Given the description of an element on the screen output the (x, y) to click on. 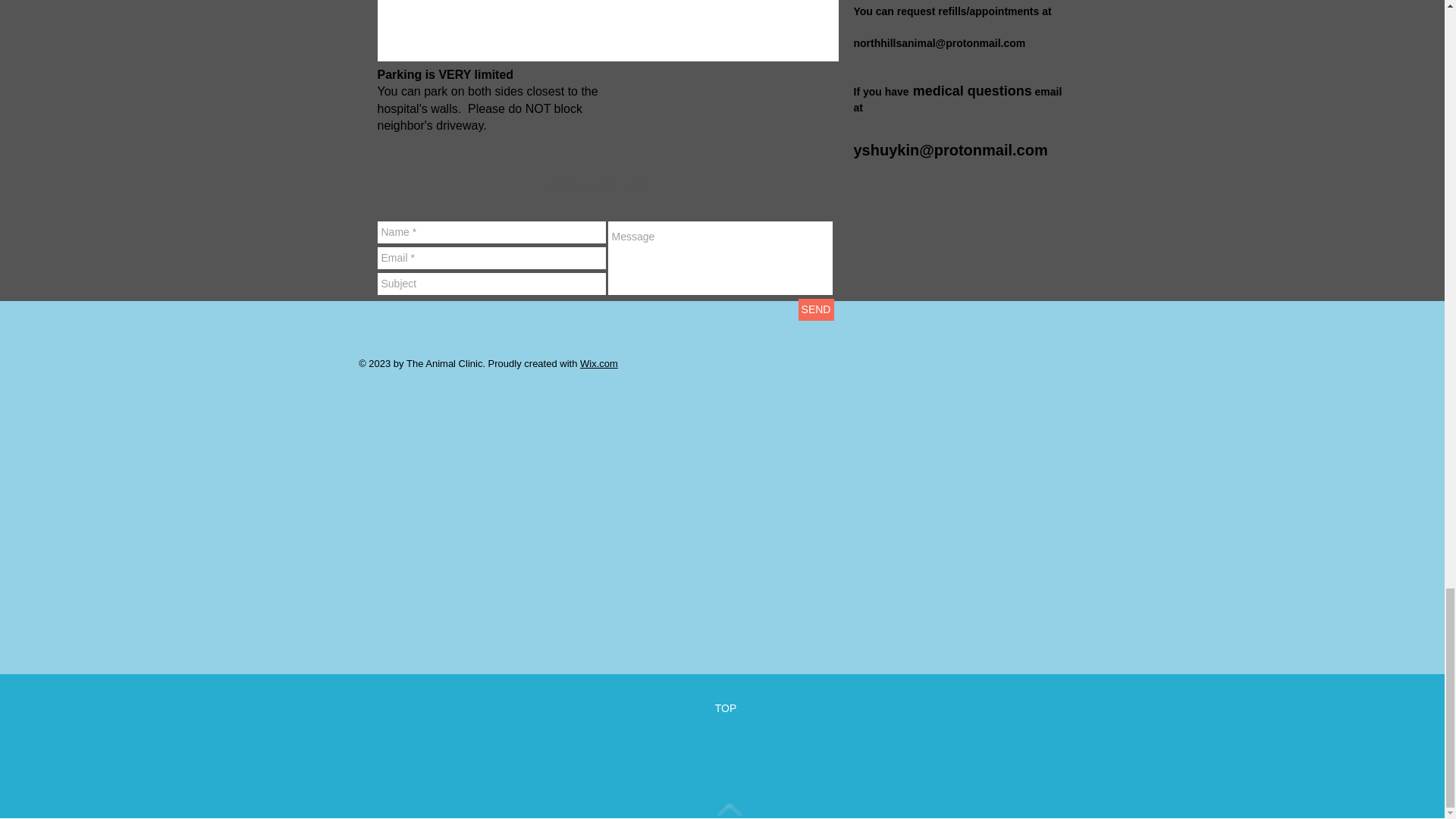
Wix.com (598, 363)
SEND (814, 309)
